Given the description of an element on the screen output the (x, y) to click on. 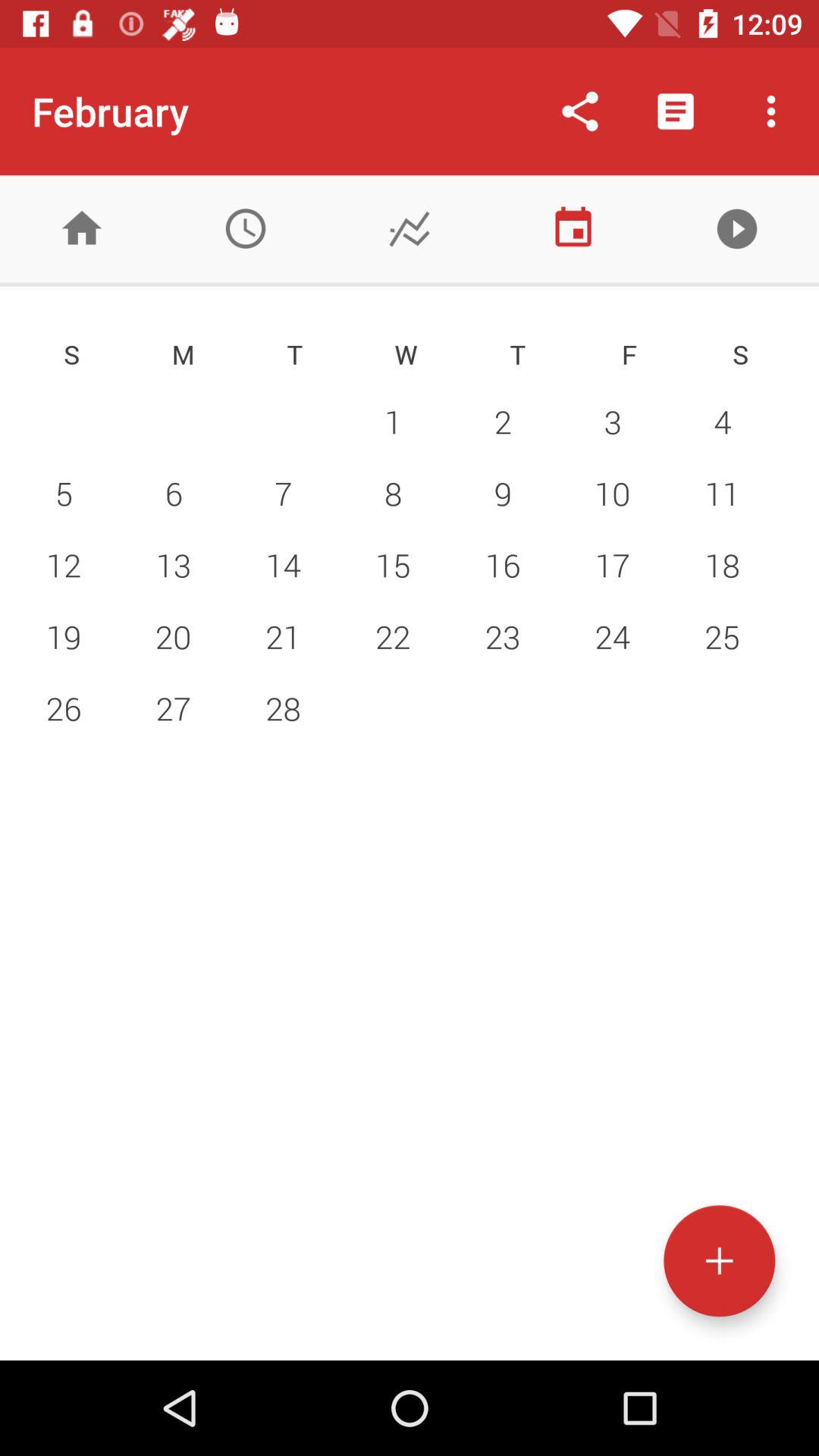
go home (81, 228)
